Given the description of an element on the screen output the (x, y) to click on. 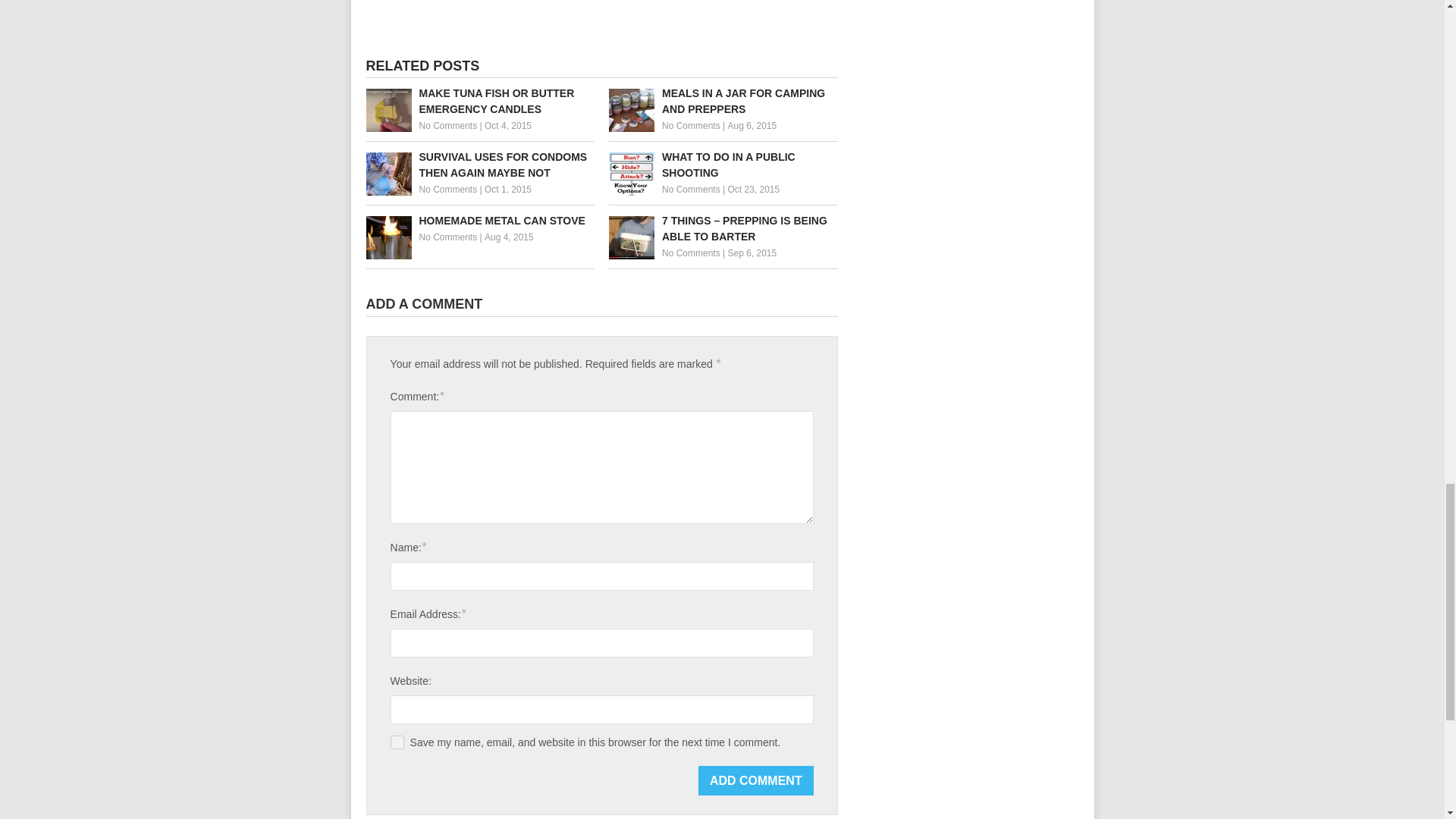
MAKE TUNA FISH OR BUTTER EMERGENCY CANDLES (479, 101)
MEALS IN A JAR FOR CAMPING AND PREPPERS (723, 101)
No Comments (691, 125)
No Comments (448, 125)
yes (397, 742)
No Comments (691, 253)
WHAT TO DO IN A PUBLIC SHOOTING (723, 164)
Add Comment (755, 780)
No Comments (448, 189)
No Comments (448, 236)
No Comments (691, 189)
SURVIVAL USES FOR CONDOMS THEN AGAIN MAYBE NOT (479, 164)
HOMEMADE METAL CAN STOVE (479, 220)
Add Comment (755, 780)
